Given the description of an element on the screen output the (x, y) to click on. 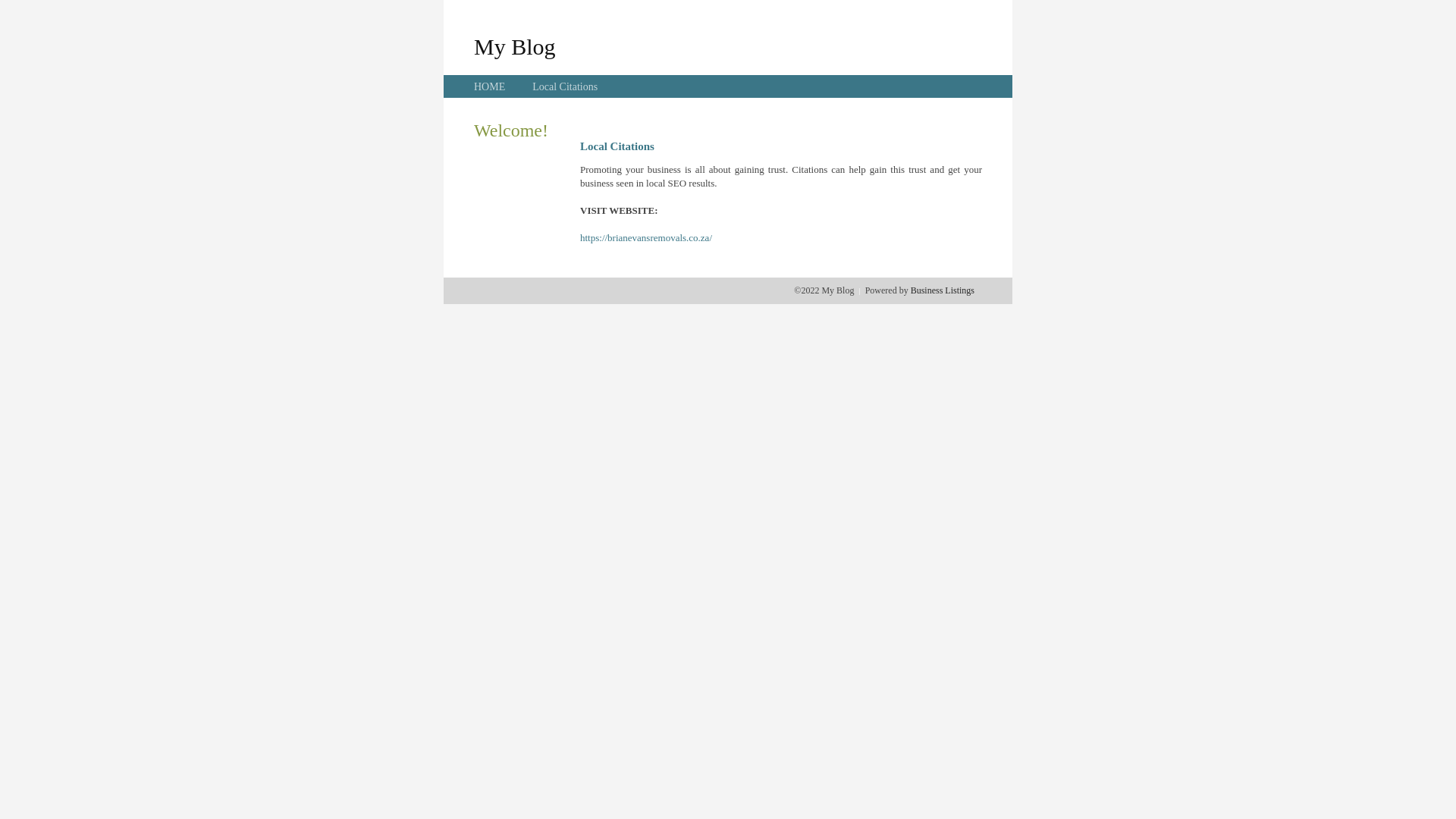
My Blog Element type: text (514, 46)
HOME Element type: text (489, 86)
Business Listings Element type: text (942, 290)
Local Citations Element type: text (564, 86)
https://brianevansremovals.co.za/ Element type: text (646, 237)
